Given the description of an element on the screen output the (x, y) to click on. 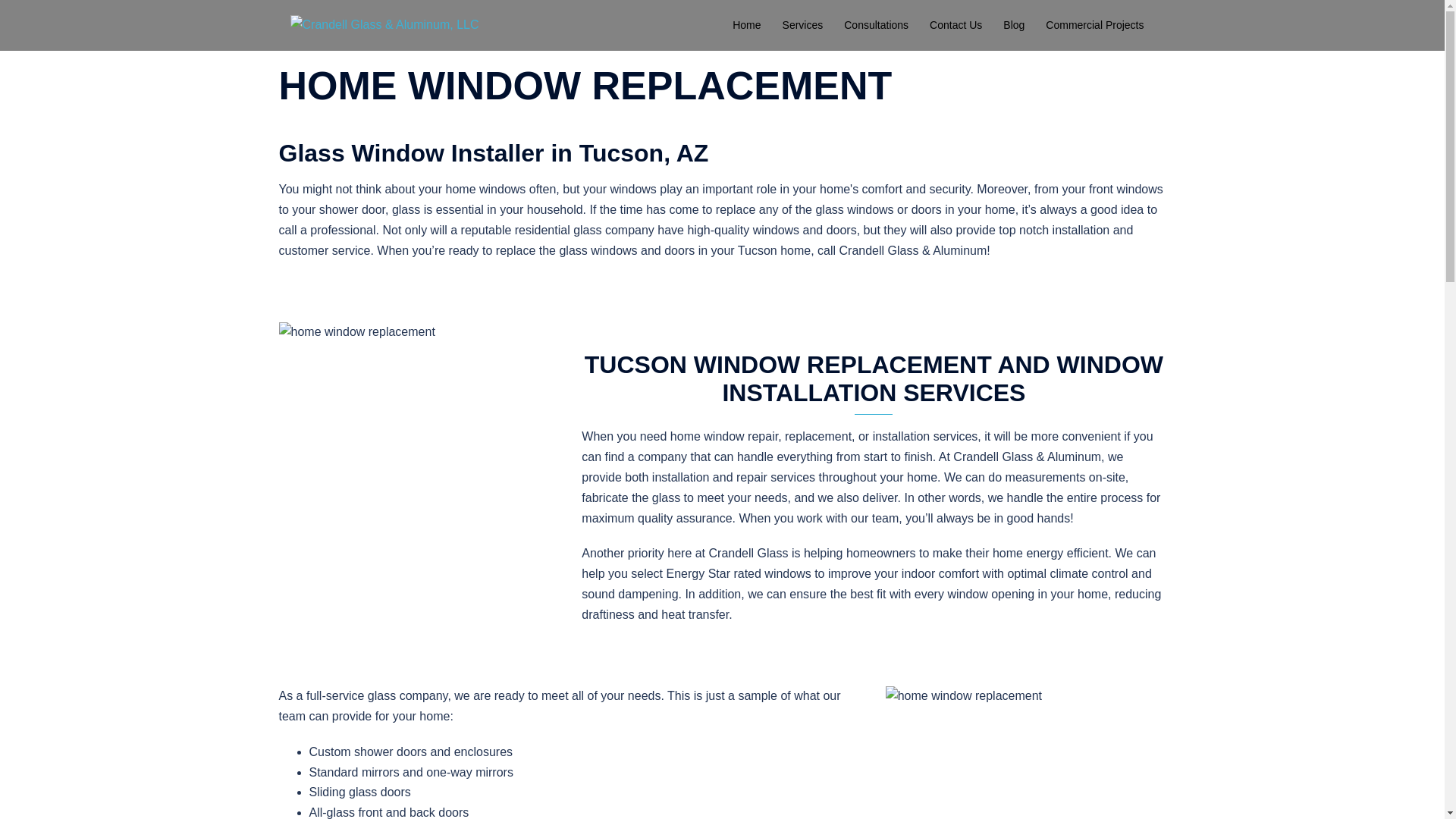
Home (746, 25)
Blog (1014, 25)
Consultations (876, 25)
Energy Efficient Windows (419, 424)
Services (803, 25)
Contact Us (955, 25)
fireplace corner (1025, 752)
Commercial Projects (1093, 25)
